Given the description of an element on the screen output the (x, y) to click on. 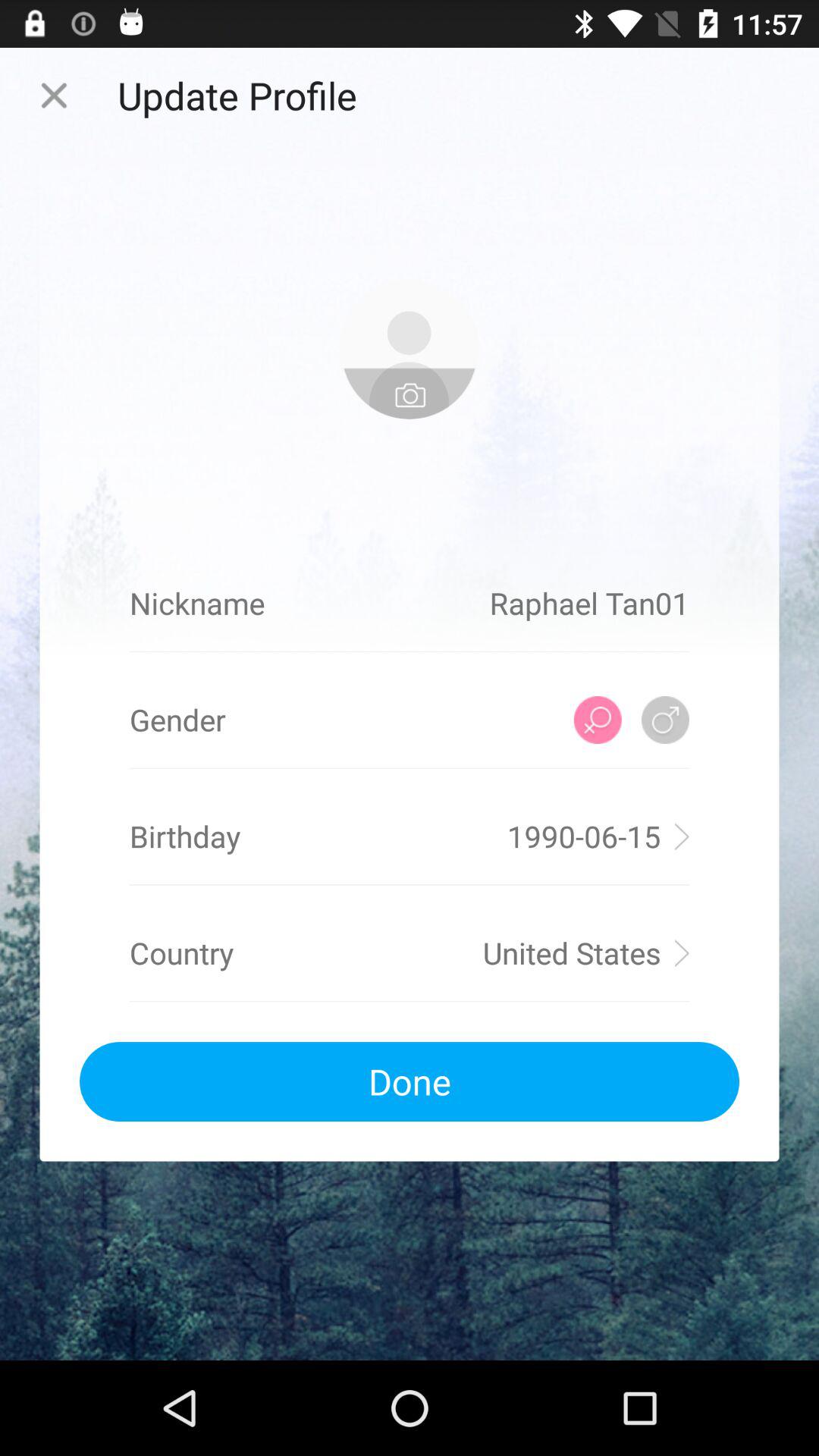
close page (53, 95)
